Given the description of an element on the screen output the (x, y) to click on. 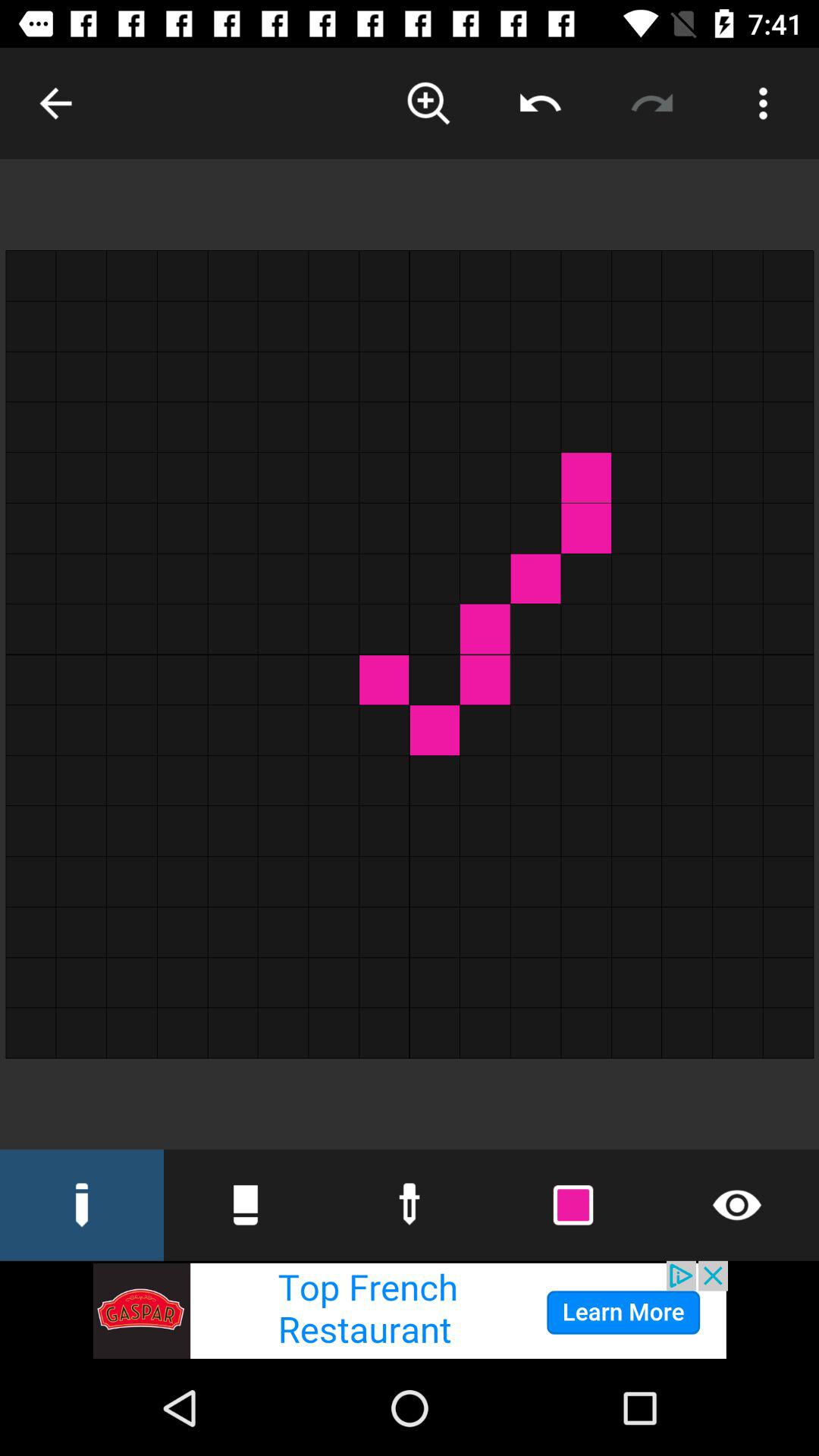
backword option (540, 103)
